Given the description of an element on the screen output the (x, y) to click on. 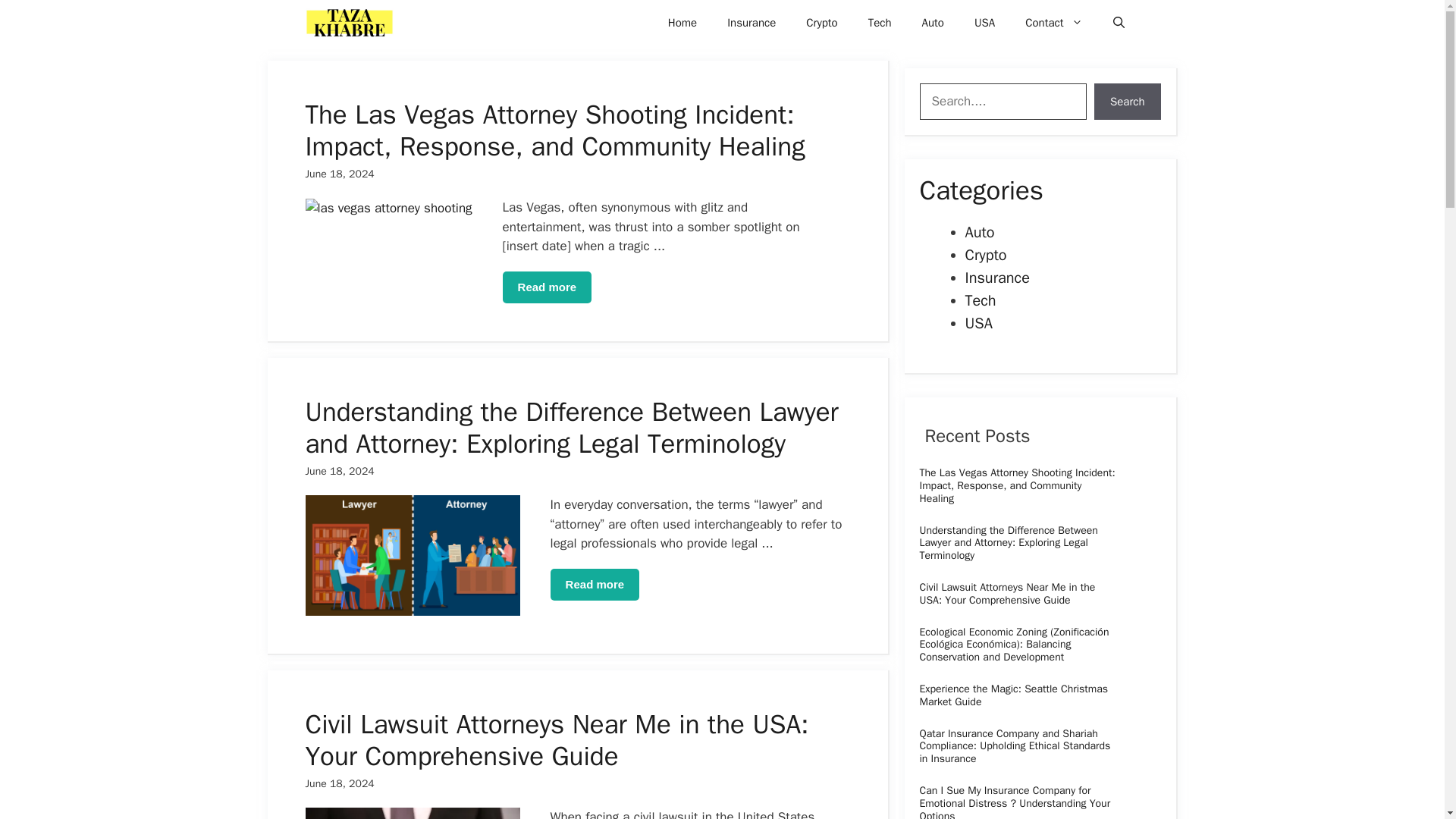
Auto (933, 22)
Tech (880, 22)
Contact (1053, 22)
USA (984, 22)
Read more (595, 584)
Crypto (820, 22)
Read more (547, 287)
